Given the description of an element on the screen output the (x, y) to click on. 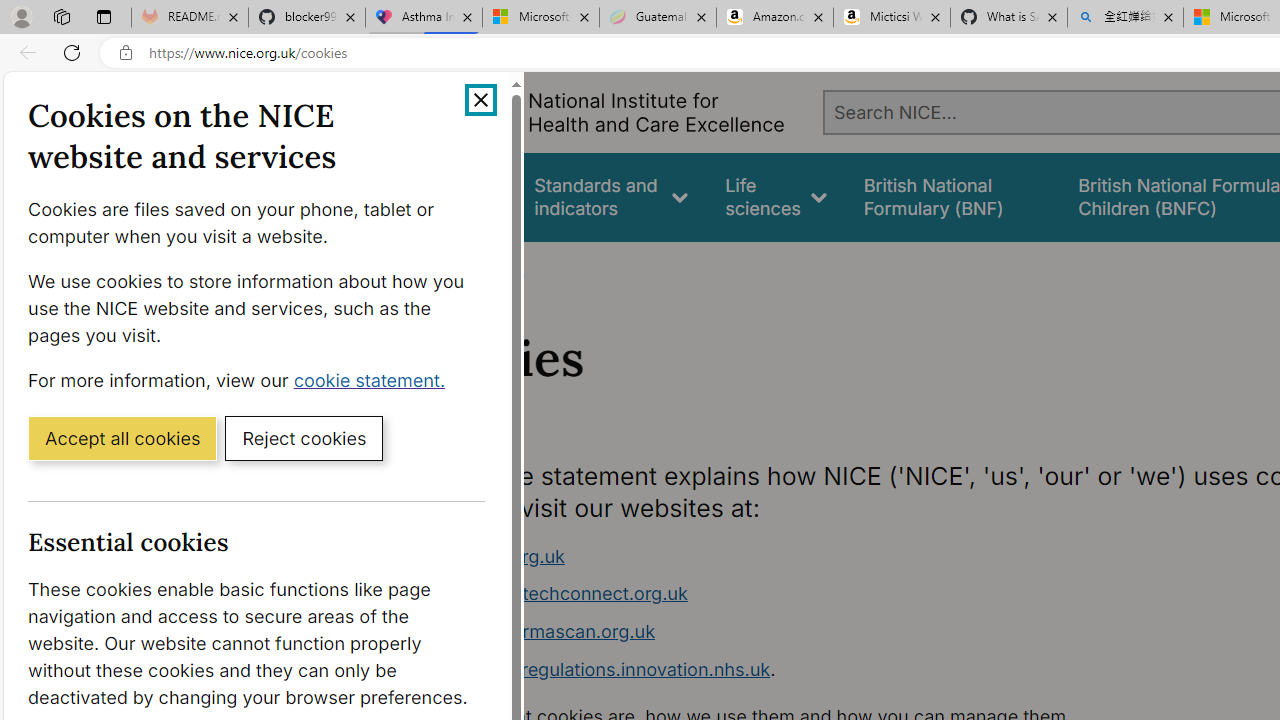
Life sciences (776, 196)
www.digitalregulations.innovation.nhs.uk. (796, 669)
www.ukpharmascan.org.uk (538, 631)
Accept all cookies (122, 437)
www.digitalregulations.innovation.nhs.uk (595, 668)
